Given the description of an element on the screen output the (x, y) to click on. 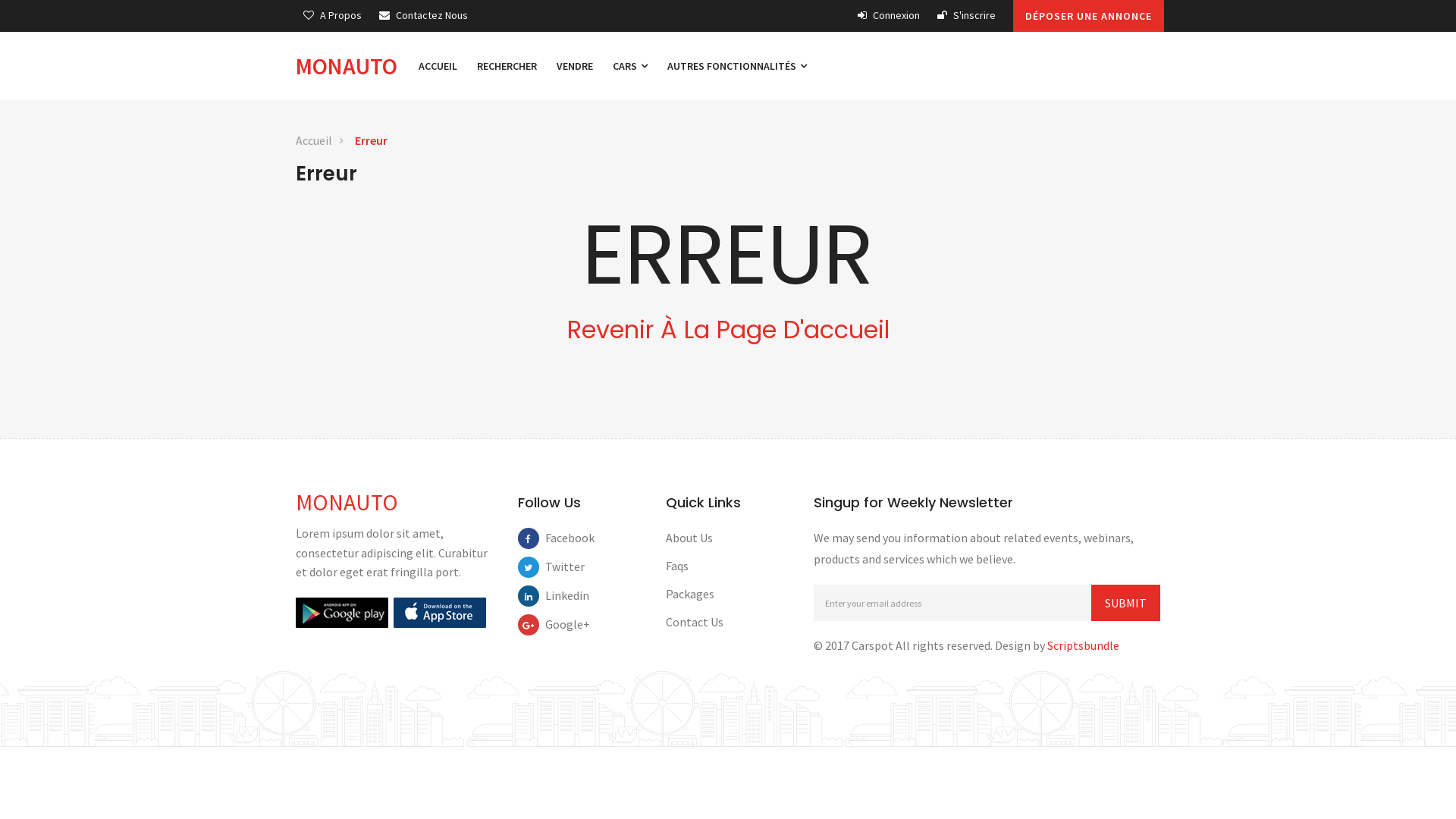
Contact Us Element type: text (694, 621)
ACCUEIL Element type: text (437, 65)
Erreur Element type: text (370, 140)
Connexion Element type: text (888, 14)
S'Inscrire Element type: text (966, 14)
Submit Element type: text (1125, 602)
Packages Element type: text (689, 593)
MONAUTO Element type: text (351, 65)
Contactez Nous Element type: text (423, 14)
About Us Element type: text (688, 537)
VENDRE Element type: text (574, 65)
CARS Element type: text (629, 65)
A Propos Element type: text (332, 14)
Accueil Element type: text (313, 140)
MONAUTO Element type: text (346, 501)
Scriptsbundle Element type: text (1082, 644)
Faqs Element type: text (676, 565)
RECHERCHER Element type: text (506, 65)
